Given the description of an element on the screen output the (x, y) to click on. 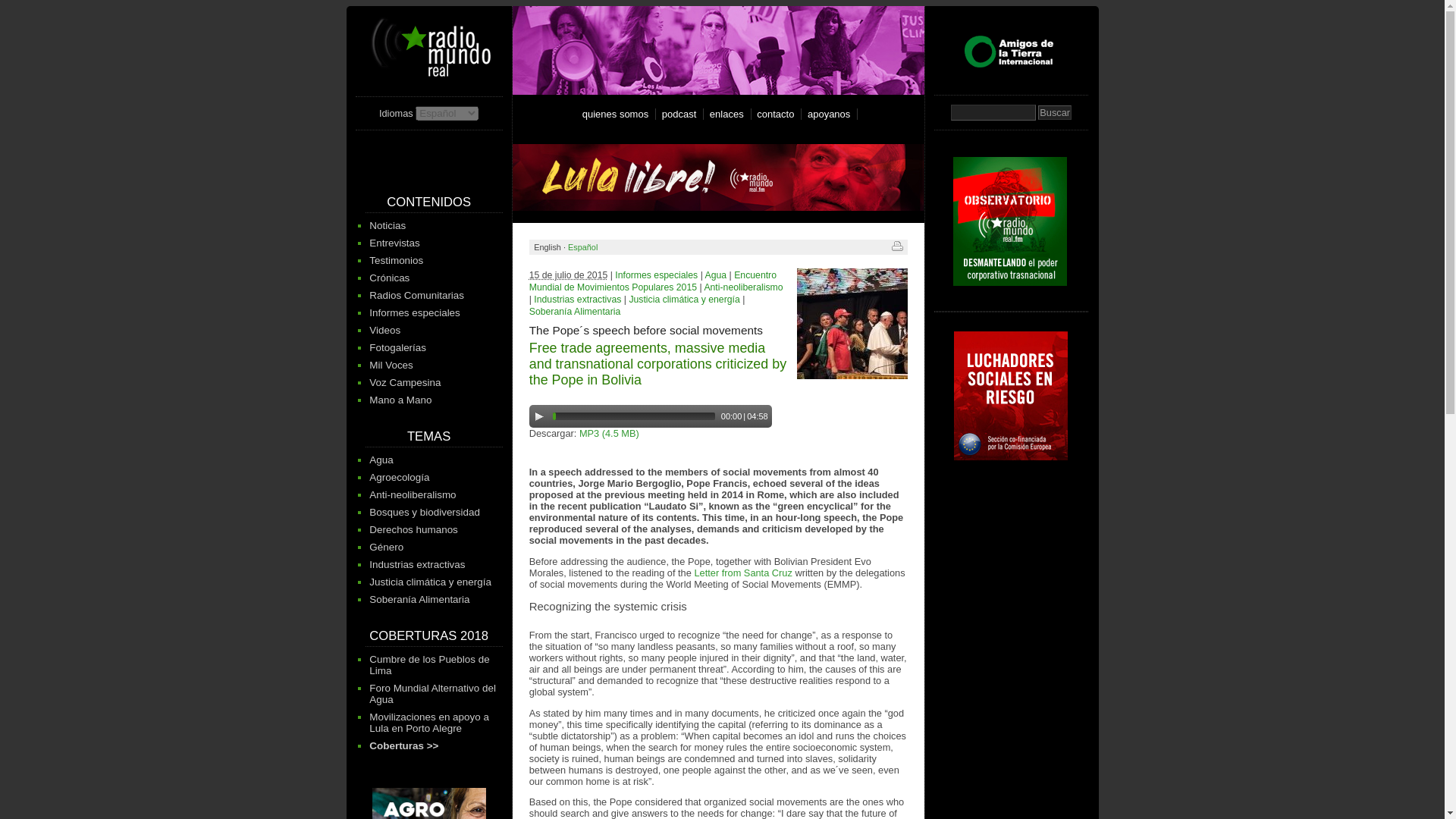
apoyanos (831, 113)
quienes somos (617, 113)
Mano a Mano (399, 399)
Cumbre de los Pueblos de Lima (429, 664)
Voz Campesina (405, 382)
Noticias (387, 225)
Entrevistas (394, 242)
Mil Voces (391, 365)
Voz Campesina (405, 382)
Anti-neoliberalismo (412, 494)
Movilizaciones en apoyo a Lula en Porto Alegre (429, 722)
contacto (778, 113)
Videos (384, 329)
TEMAS (428, 436)
CONTENIDOS (428, 201)
